Given the description of an element on the screen output the (x, y) to click on. 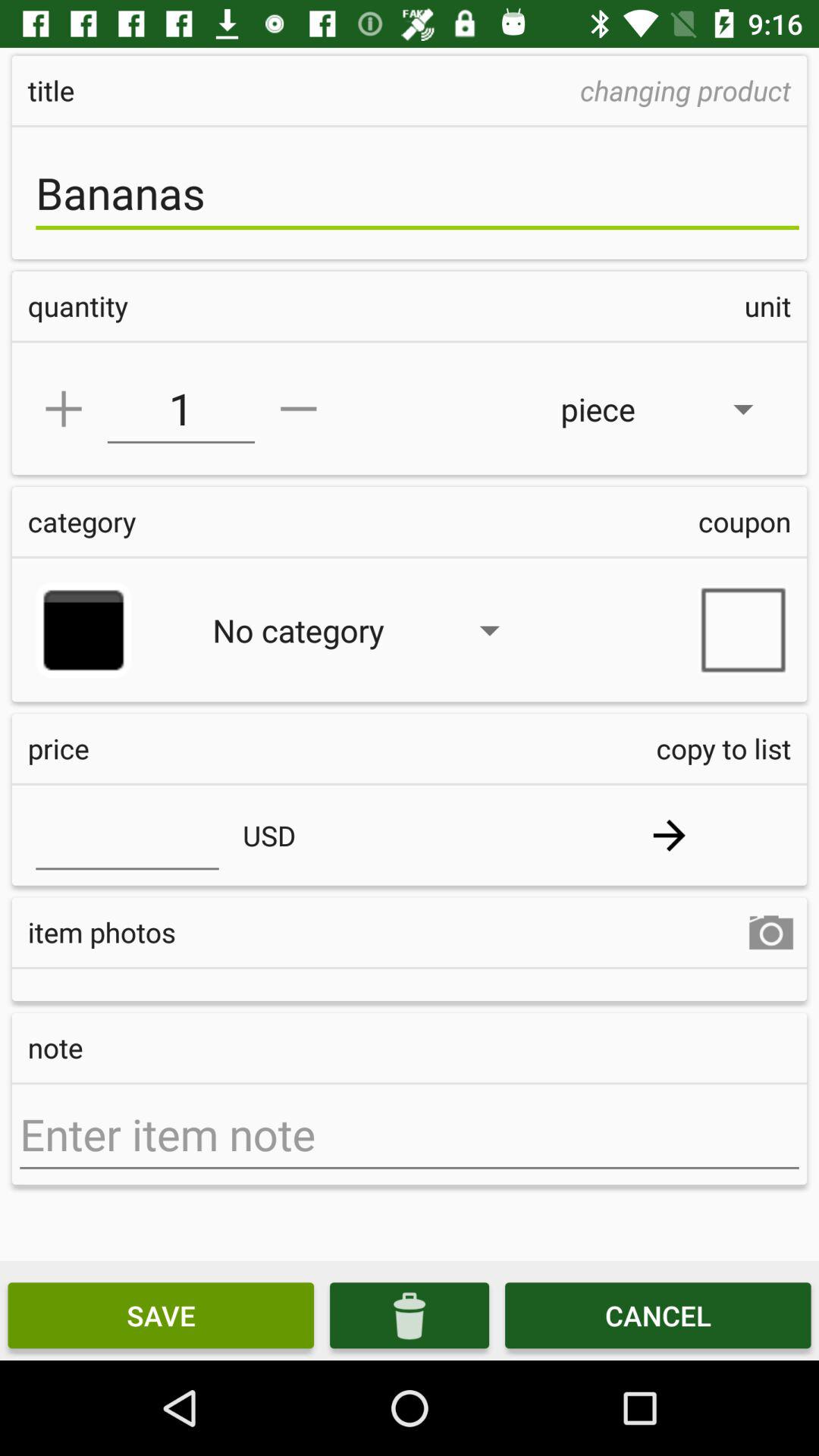
input item note (409, 1134)
